Given the description of an element on the screen output the (x, y) to click on. 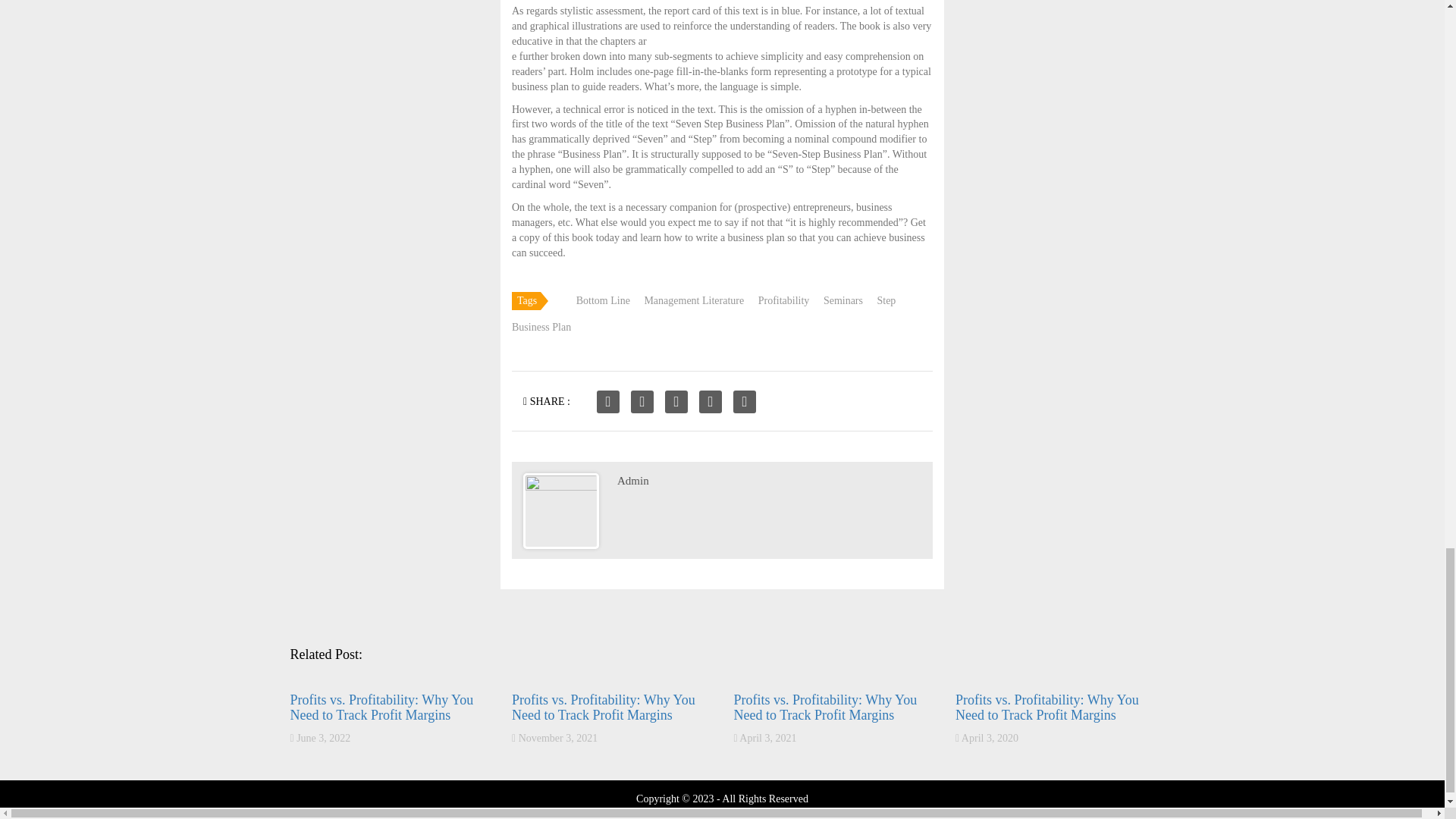
Share on Facebook (608, 401)
Posts by Admin (633, 480)
